Given the description of an element on the screen output the (x, y) to click on. 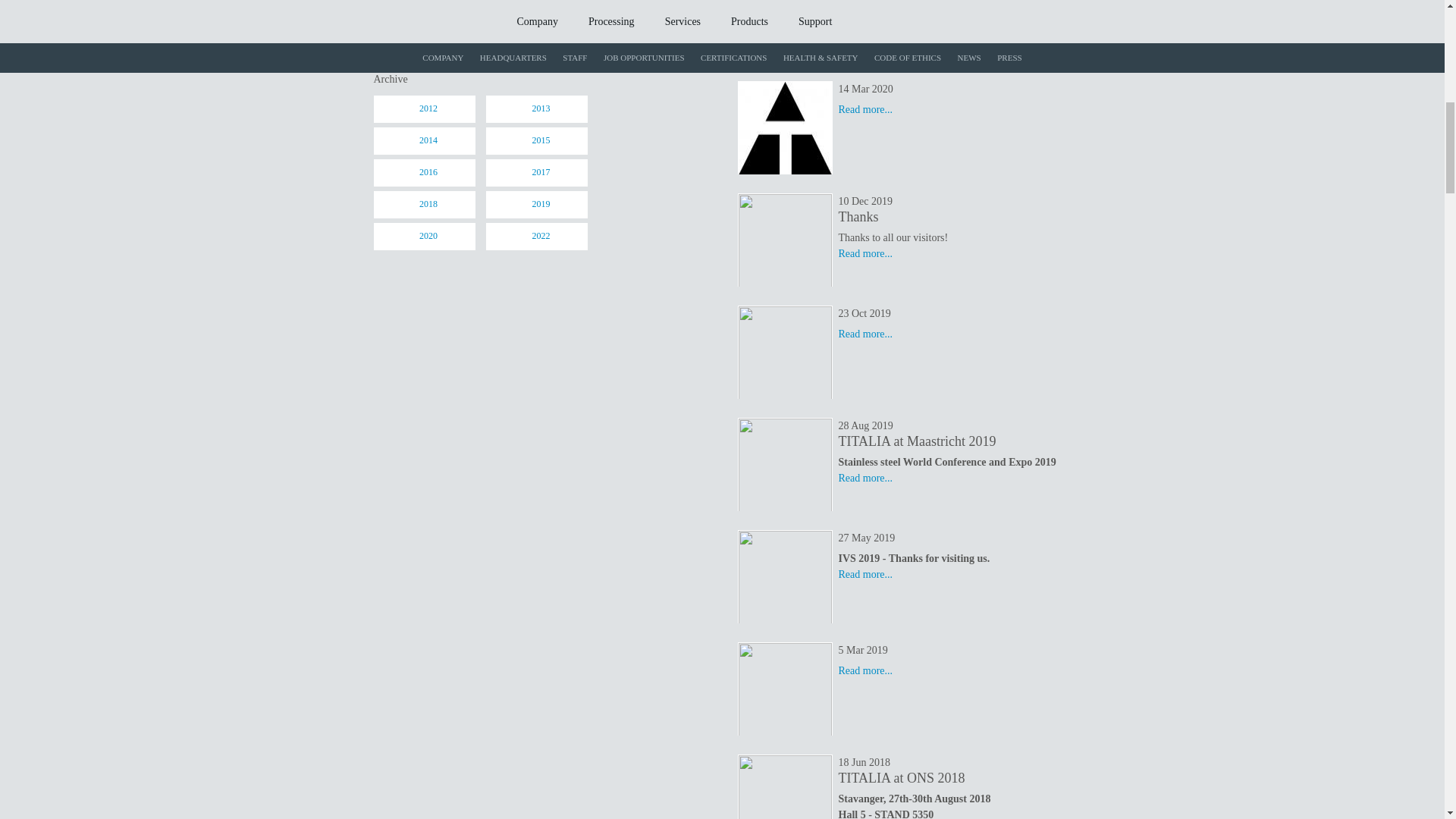
2015 (540, 140)
All the news (427, 52)
2017 (540, 172)
2013 (540, 108)
2016 (427, 172)
2012 (427, 108)
2018 (427, 204)
Generic (540, 52)
2014 (427, 140)
